Given the description of an element on the screen output the (x, y) to click on. 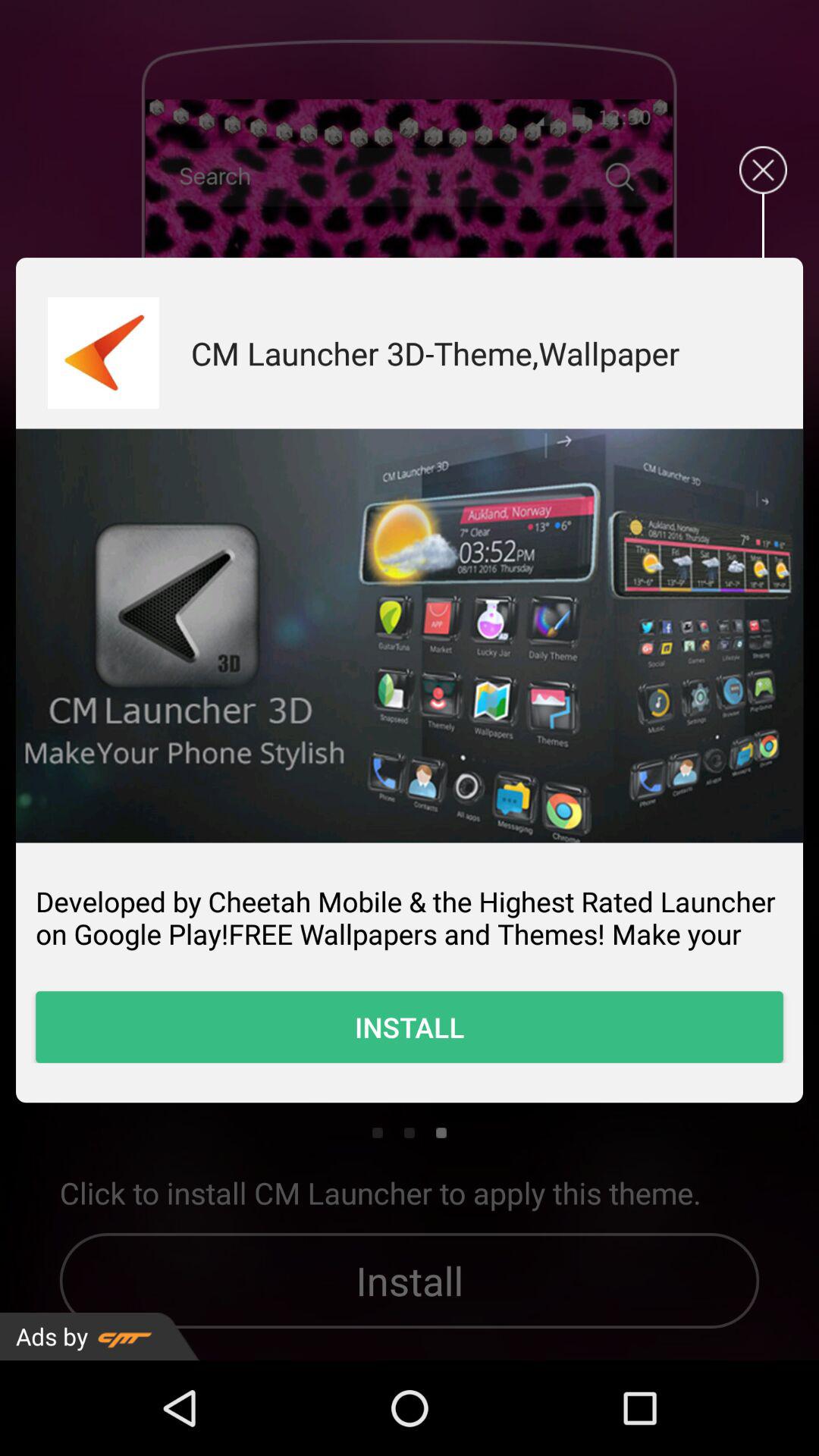
install the cm launcher (409, 635)
